Given the description of an element on the screen output the (x, y) to click on. 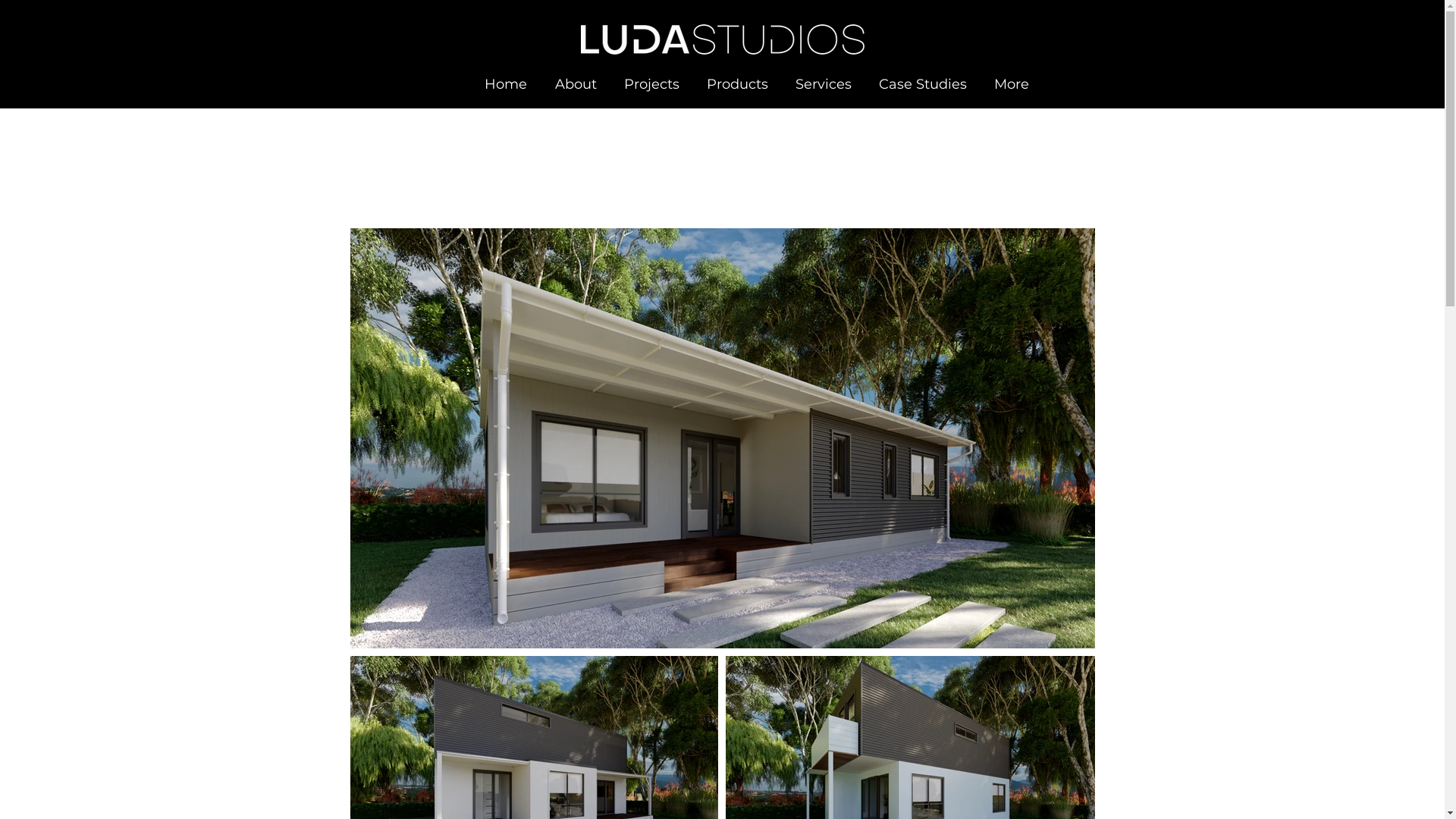
Products Element type: text (737, 84)
Case Studies Element type: text (921, 84)
About Element type: text (575, 84)
Home Element type: text (505, 84)
Services Element type: text (822, 84)
